Given the description of an element on the screen output the (x, y) to click on. 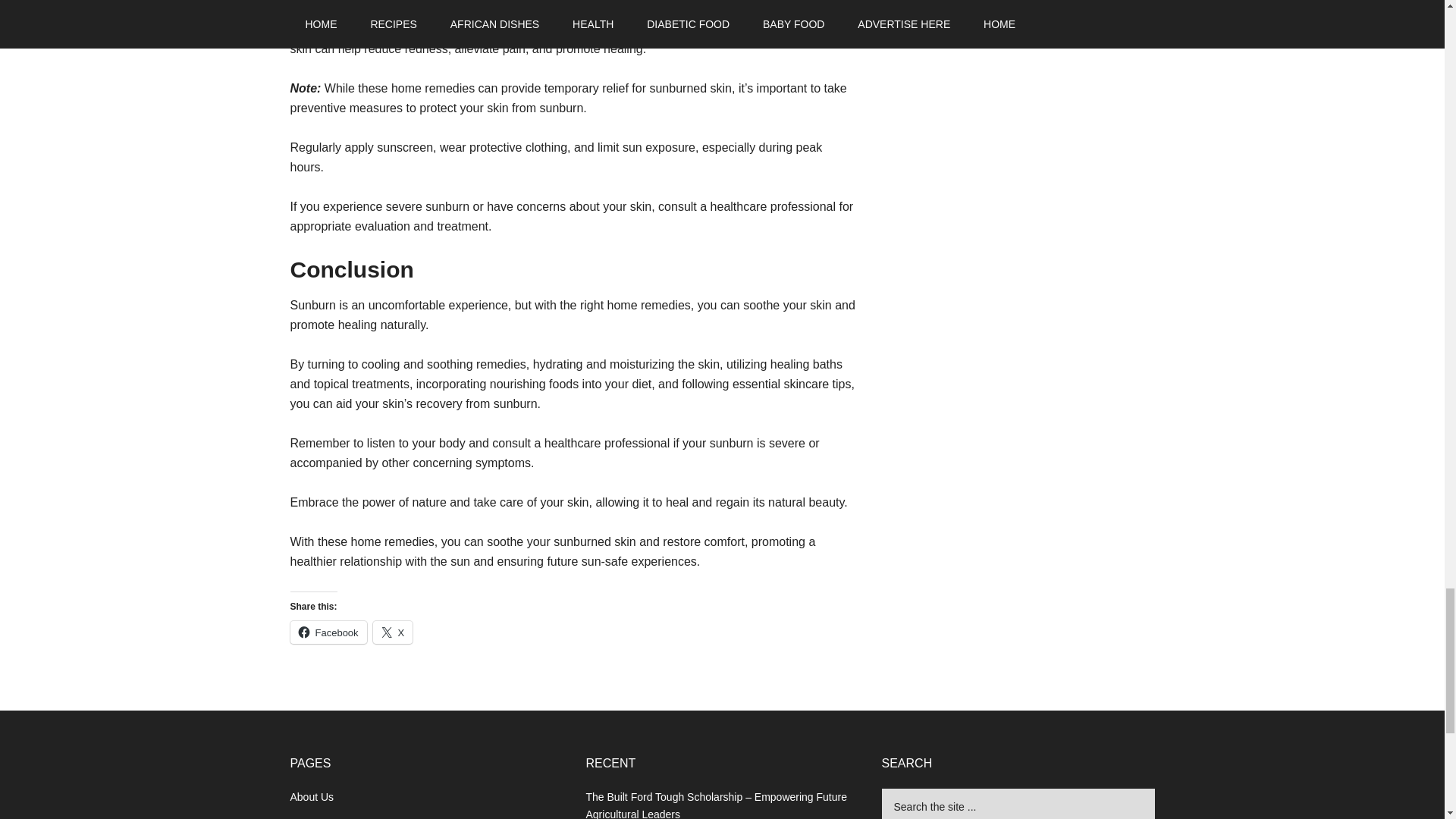
Facebook (327, 631)
Click to share on X (392, 631)
X (392, 631)
Click to share on Facebook (327, 631)
